Given the description of an element on the screen output the (x, y) to click on. 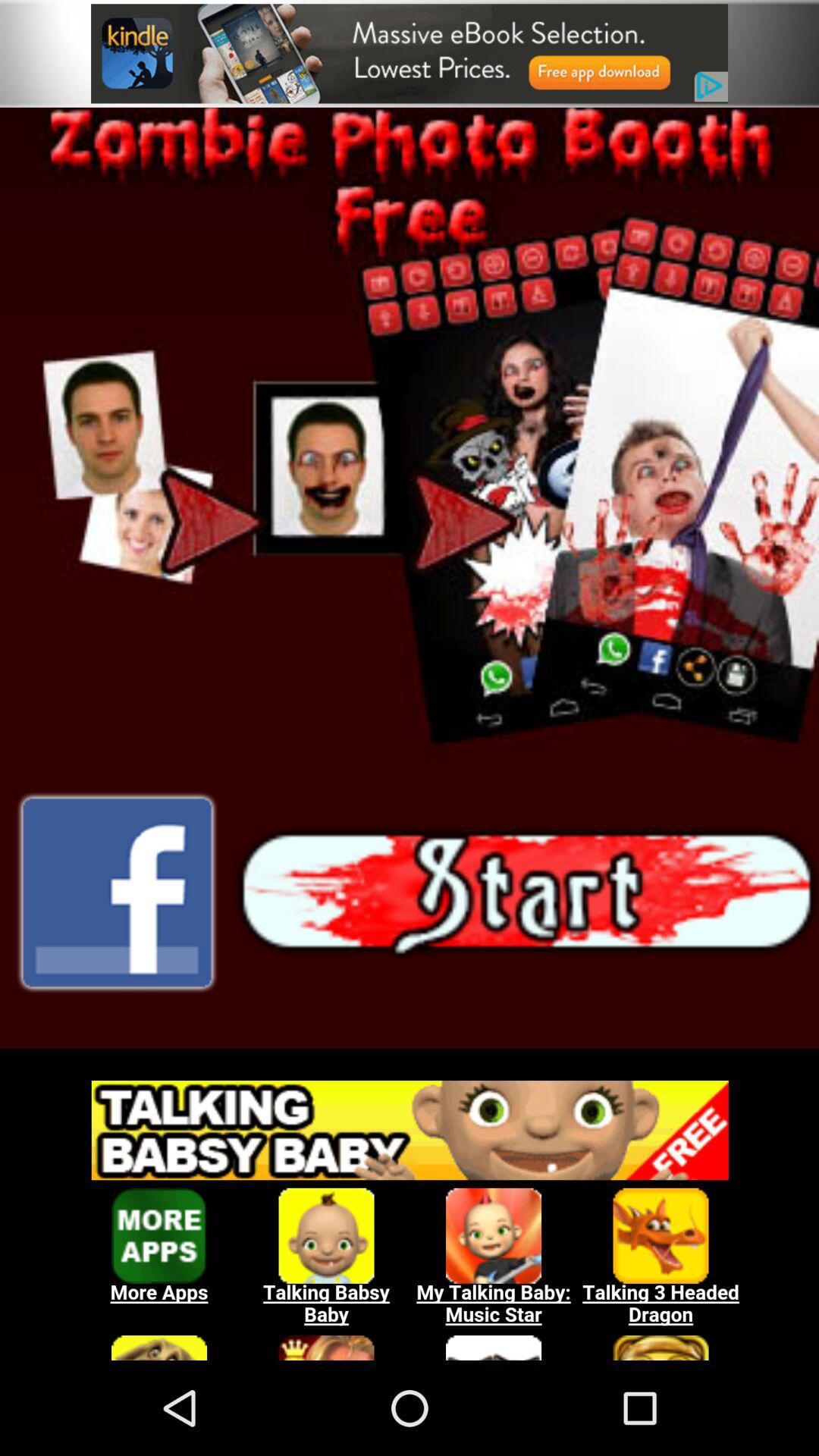
go to facebook (117, 892)
